Given the description of an element on the screen output the (x, y) to click on. 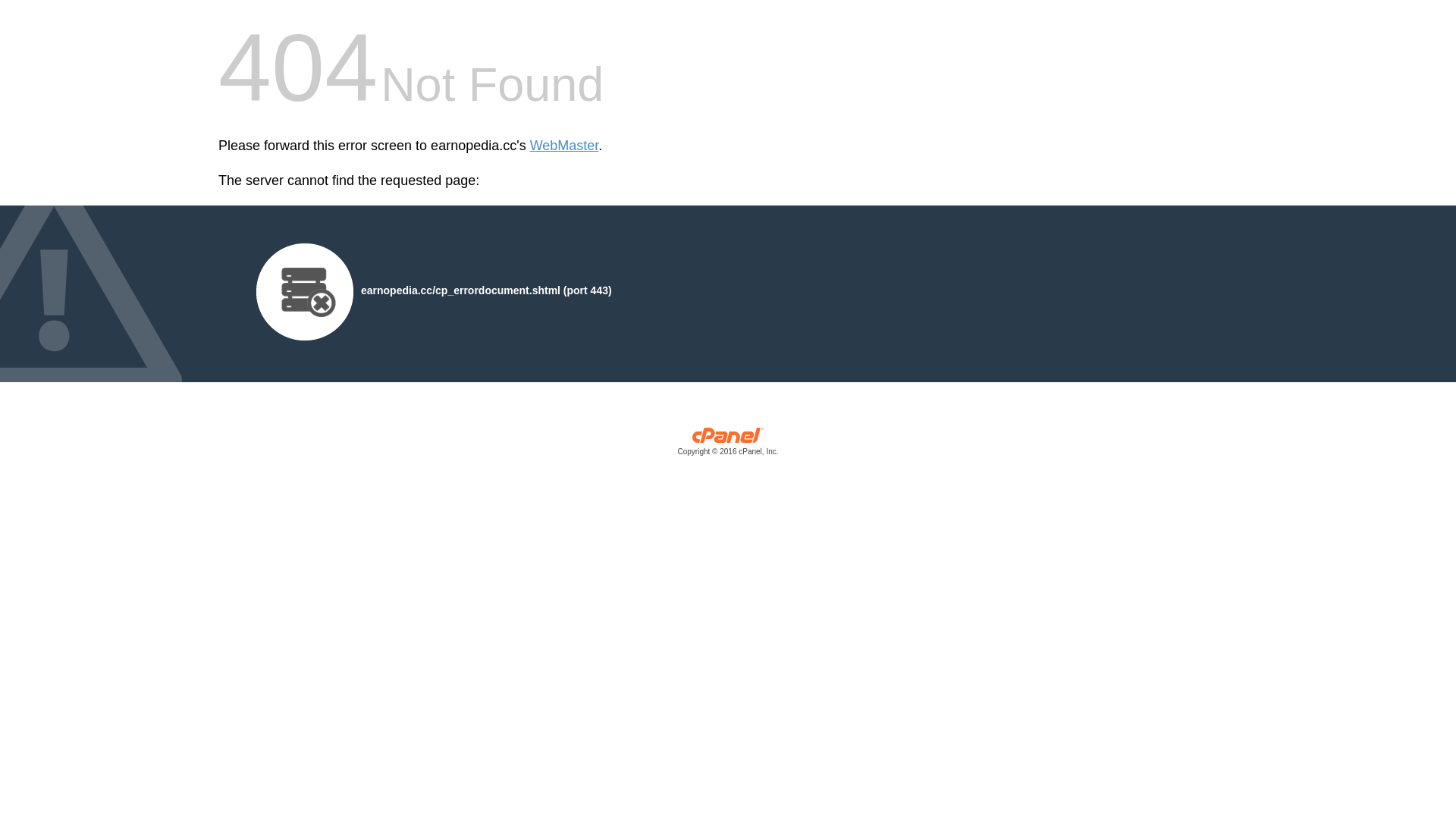
WebMaster Element type: text (564, 145)
